Given the description of an element on the screen output the (x, y) to click on. 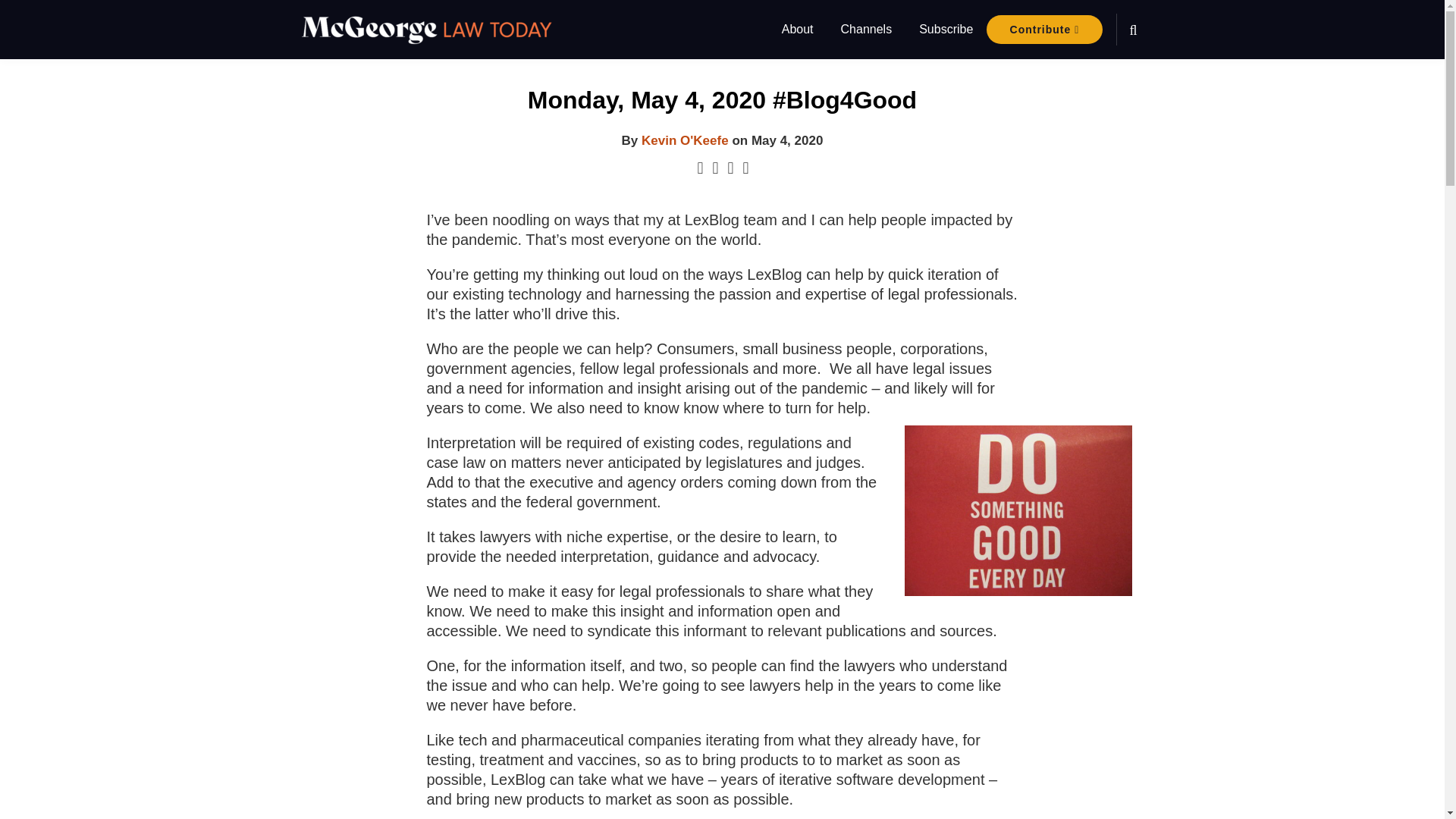
Subscribe (945, 29)
Contribute (1044, 29)
Channels (866, 29)
About (797, 29)
Kevin O'Keefe (685, 140)
